Given the description of an element on the screen output the (x, y) to click on. 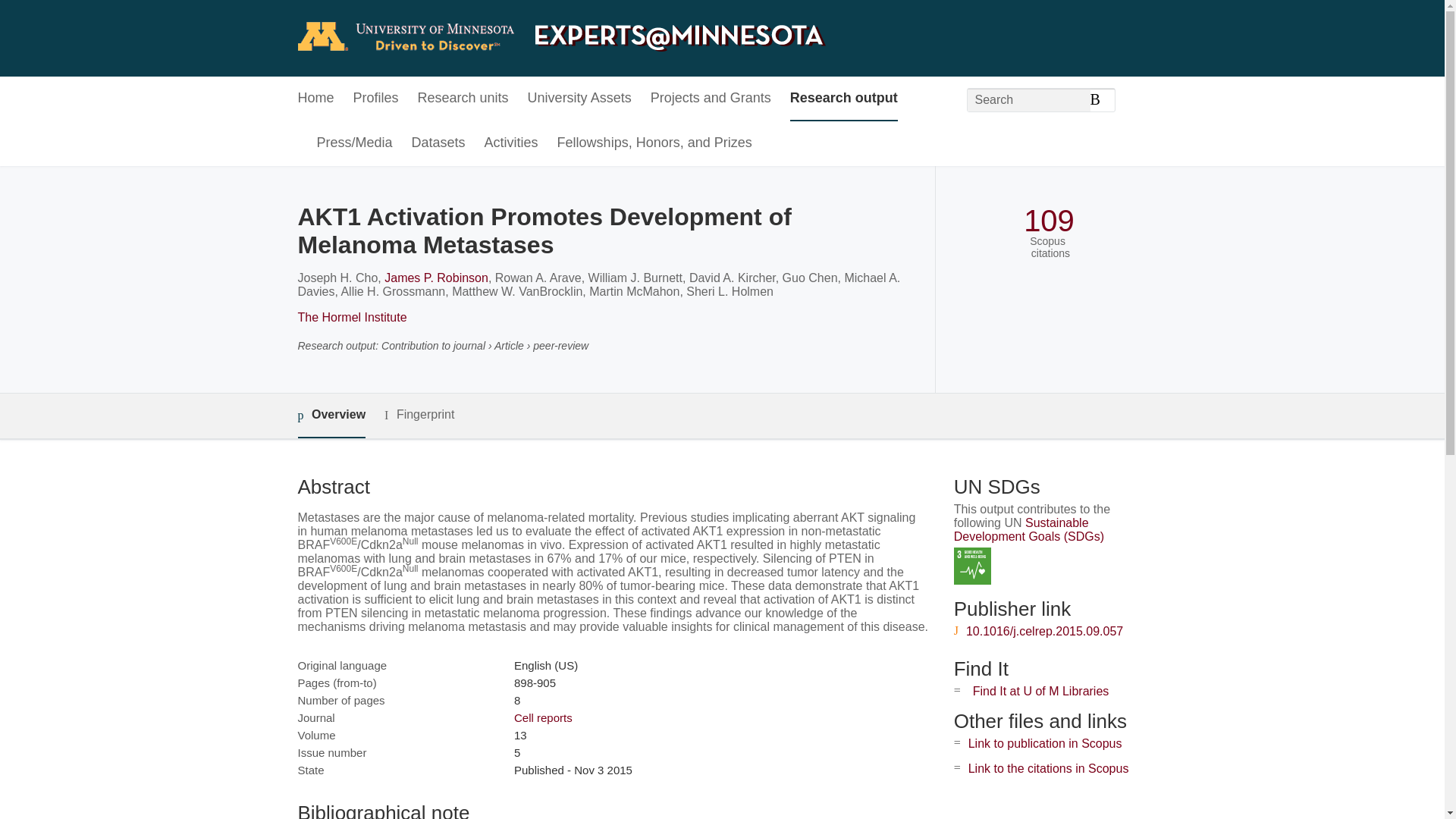
Research units (462, 98)
James P. Robinson (435, 277)
Projects and Grants (710, 98)
Cell reports (542, 717)
SDG 3 - Good Health and Well-being (972, 565)
Link to publication in Scopus (1045, 743)
The Hormel Institute (351, 317)
University Assets (579, 98)
109 (1048, 221)
Activities (511, 143)
Fellowships, Honors, and Prizes (654, 143)
Fingerprint (419, 414)
Profiles (375, 98)
Datasets (438, 143)
